Given the description of an element on the screen output the (x, y) to click on. 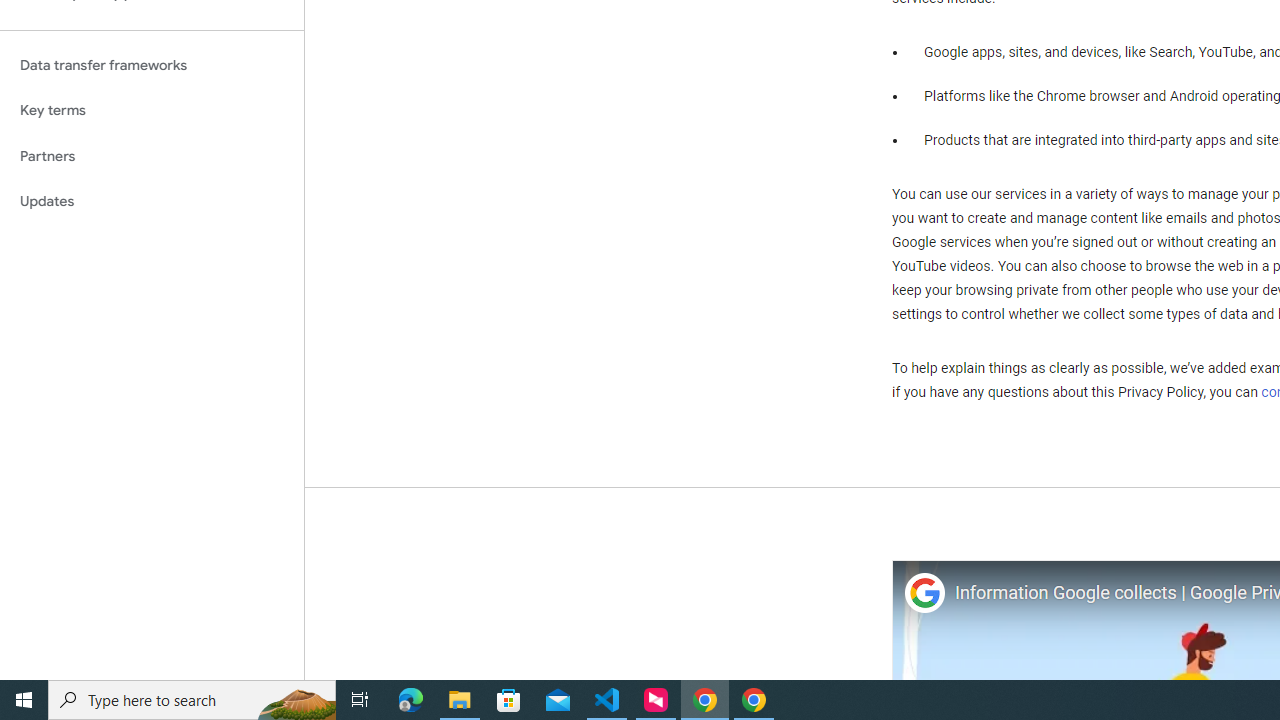
Partners (152, 156)
Key terms (152, 110)
Data transfer frameworks (152, 65)
Photo image of Google (924, 593)
Updates (152, 201)
